Given the description of an element on the screen output the (x, y) to click on. 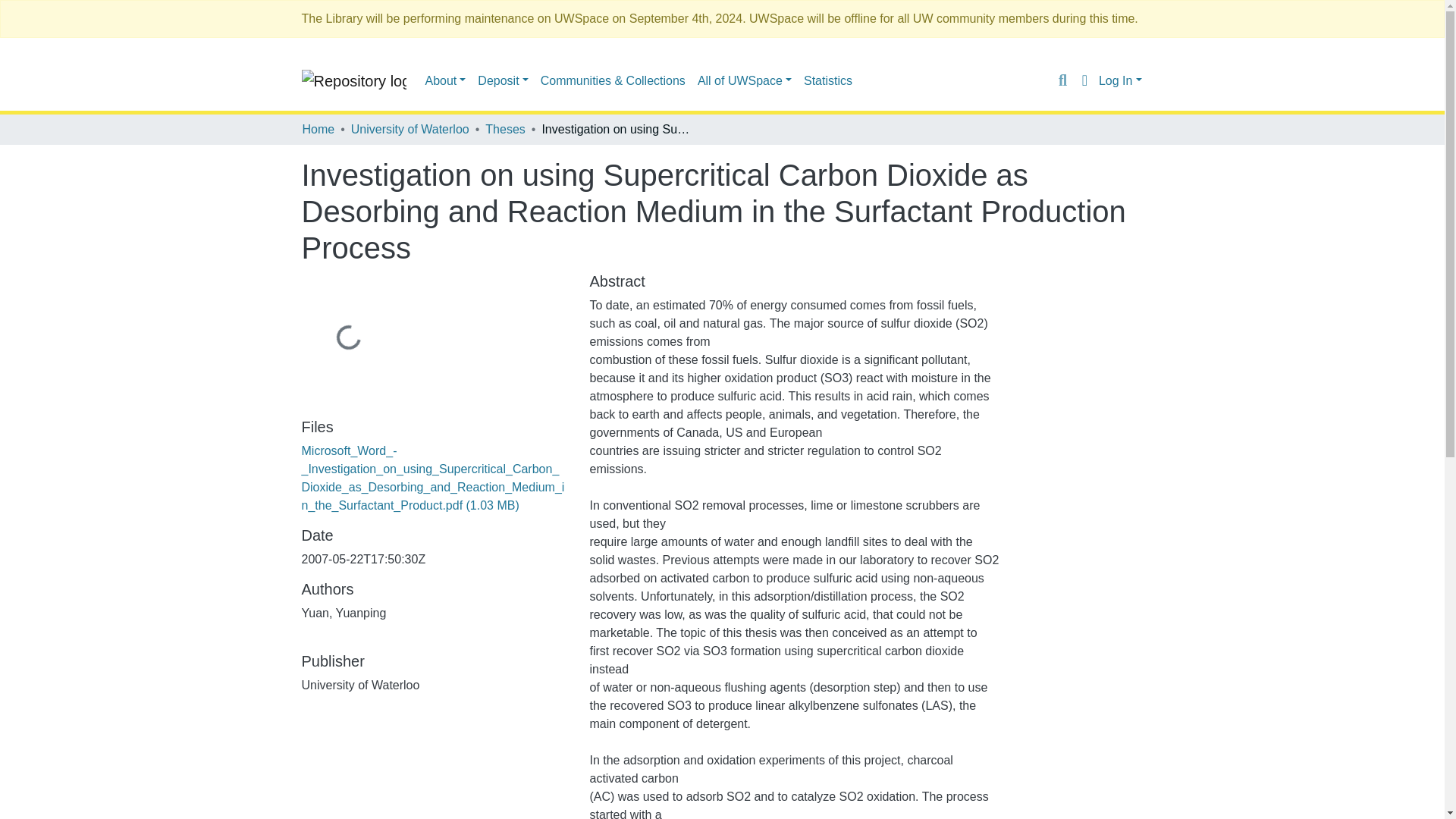
Statistics (828, 80)
Deposit (502, 80)
All of UWSpace (744, 80)
Log In (1119, 80)
Statistics (828, 80)
Language switch (1084, 80)
Search (1061, 80)
University of Waterloo (409, 129)
Home (317, 129)
Theses (504, 129)
